Given the description of an element on the screen output the (x, y) to click on. 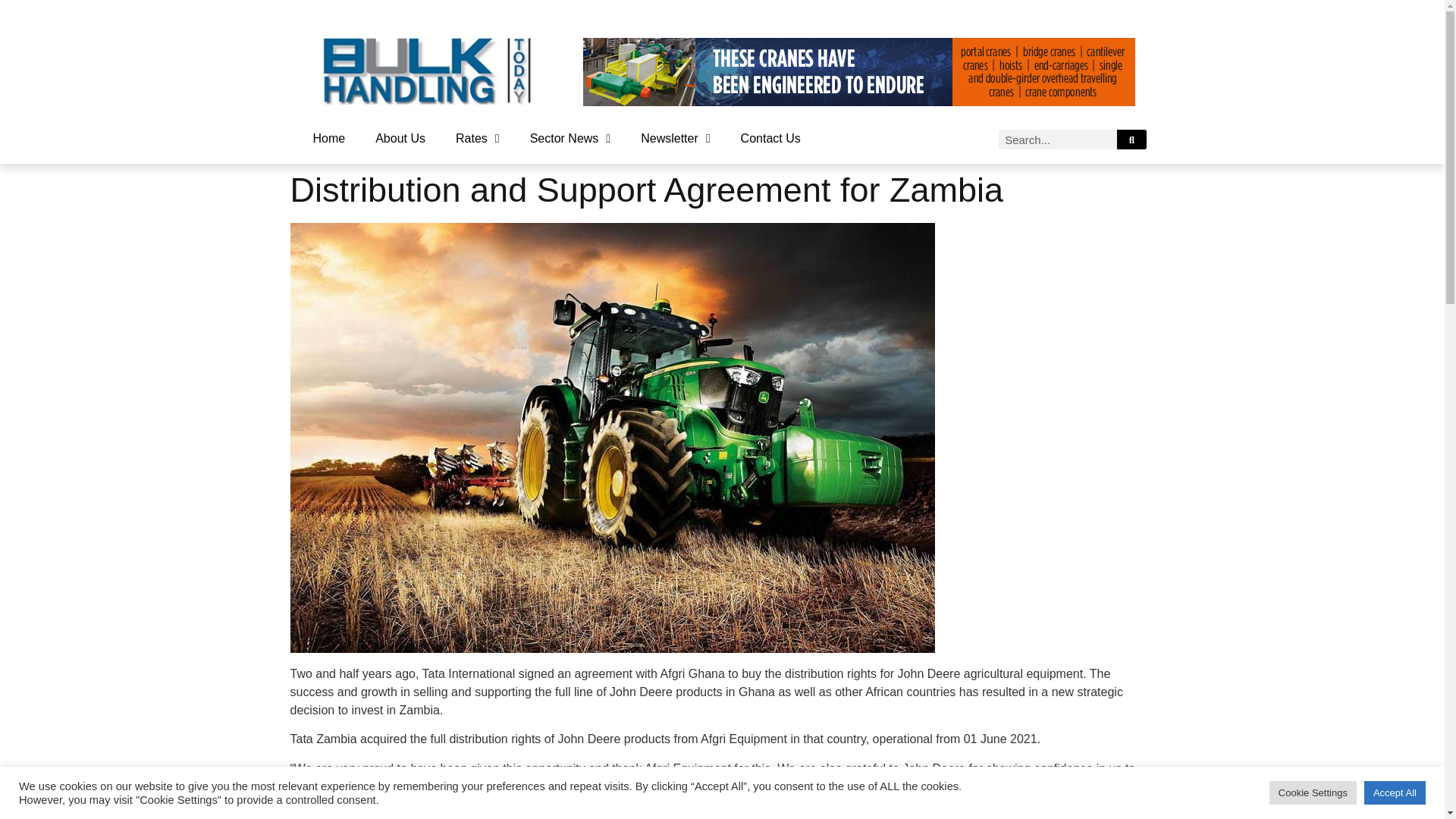
Sector News (570, 138)
Newsletter (675, 138)
About Us (400, 138)
Contact Us (770, 138)
Rates (478, 138)
Home (328, 138)
